Given the description of an element on the screen output the (x, y) to click on. 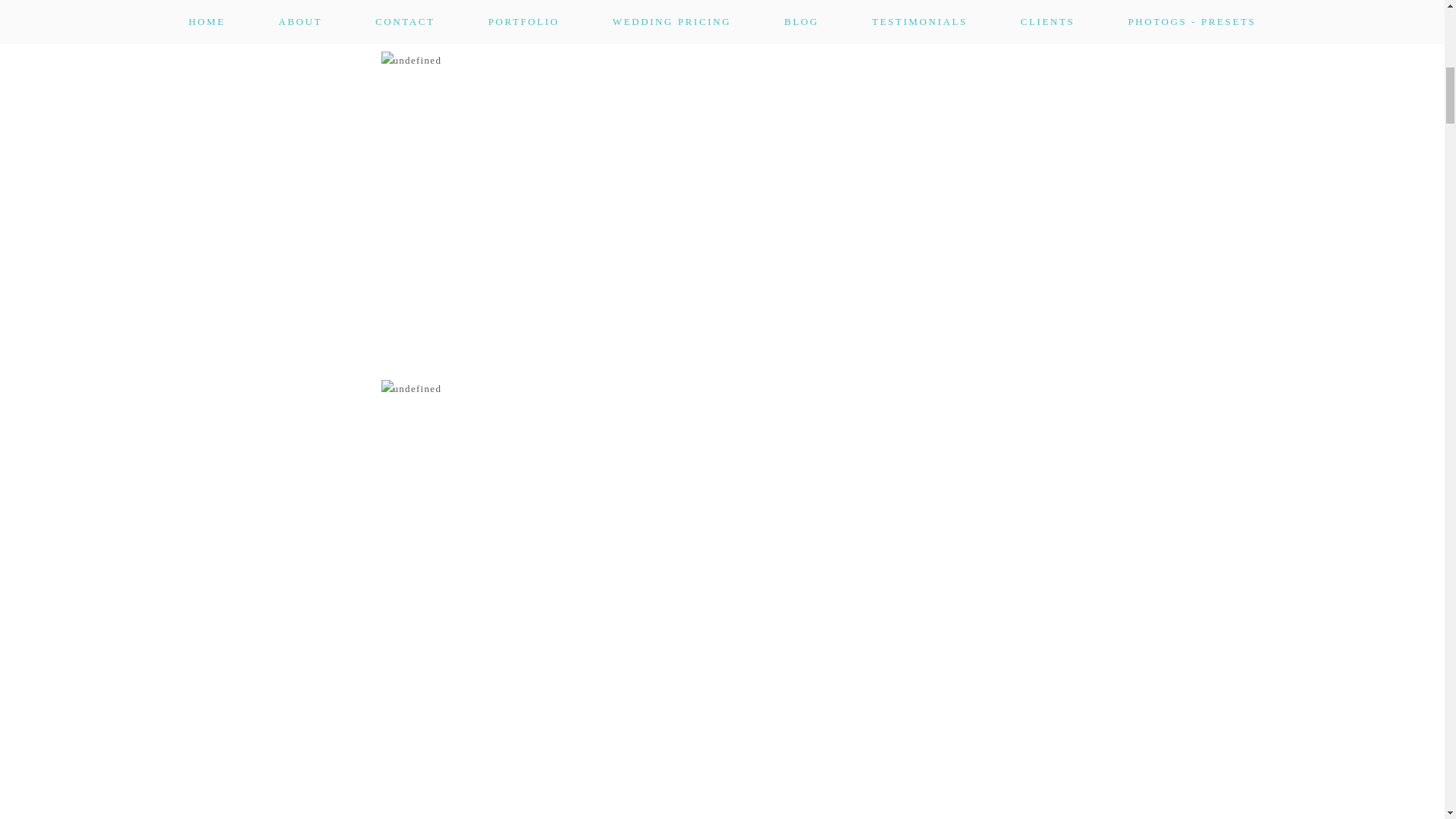
undefined (721, 25)
